Given the description of an element on the screen output the (x, y) to click on. 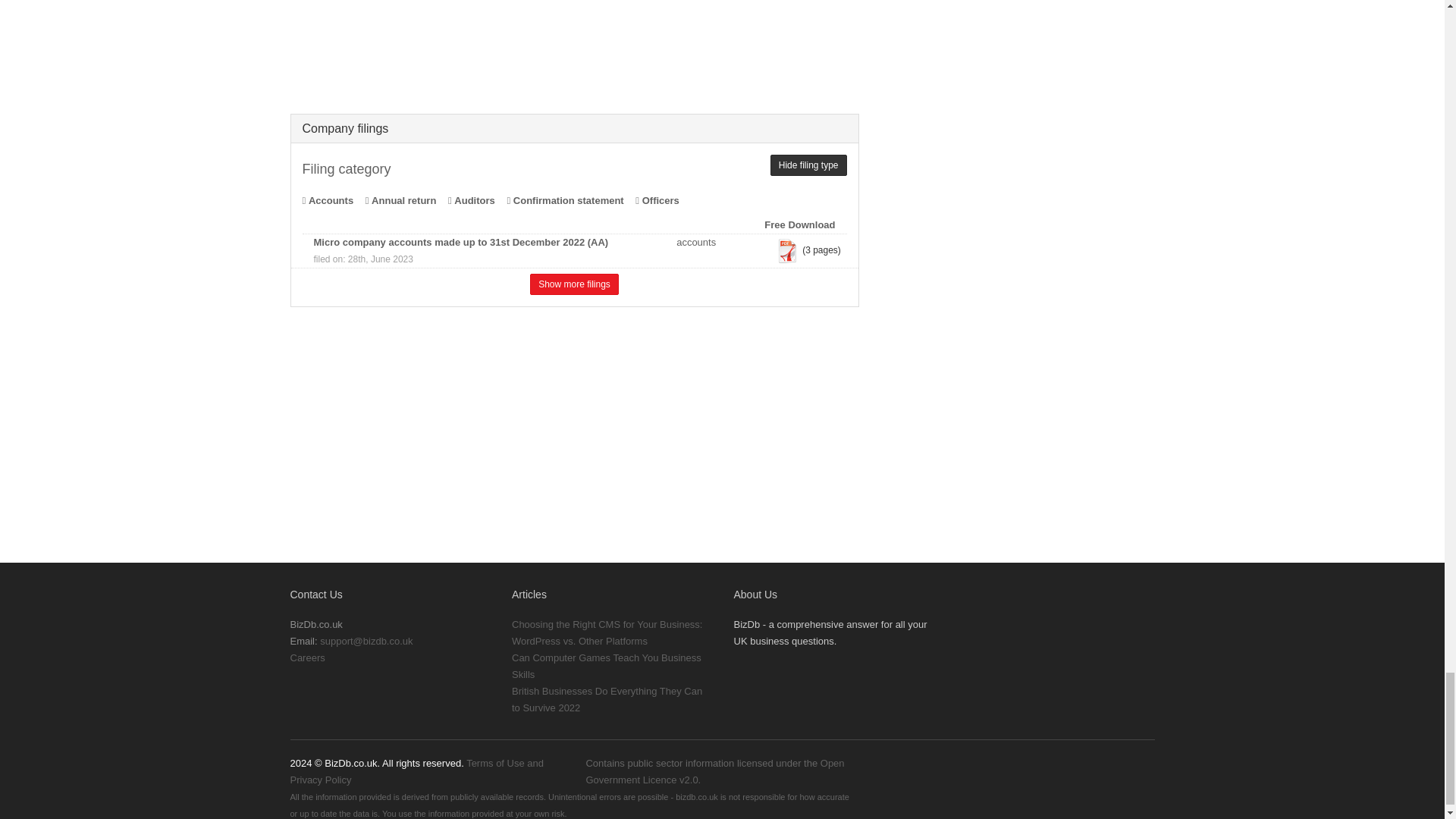
Show more filings (573, 283)
